Given the description of an element on the screen output the (x, y) to click on. 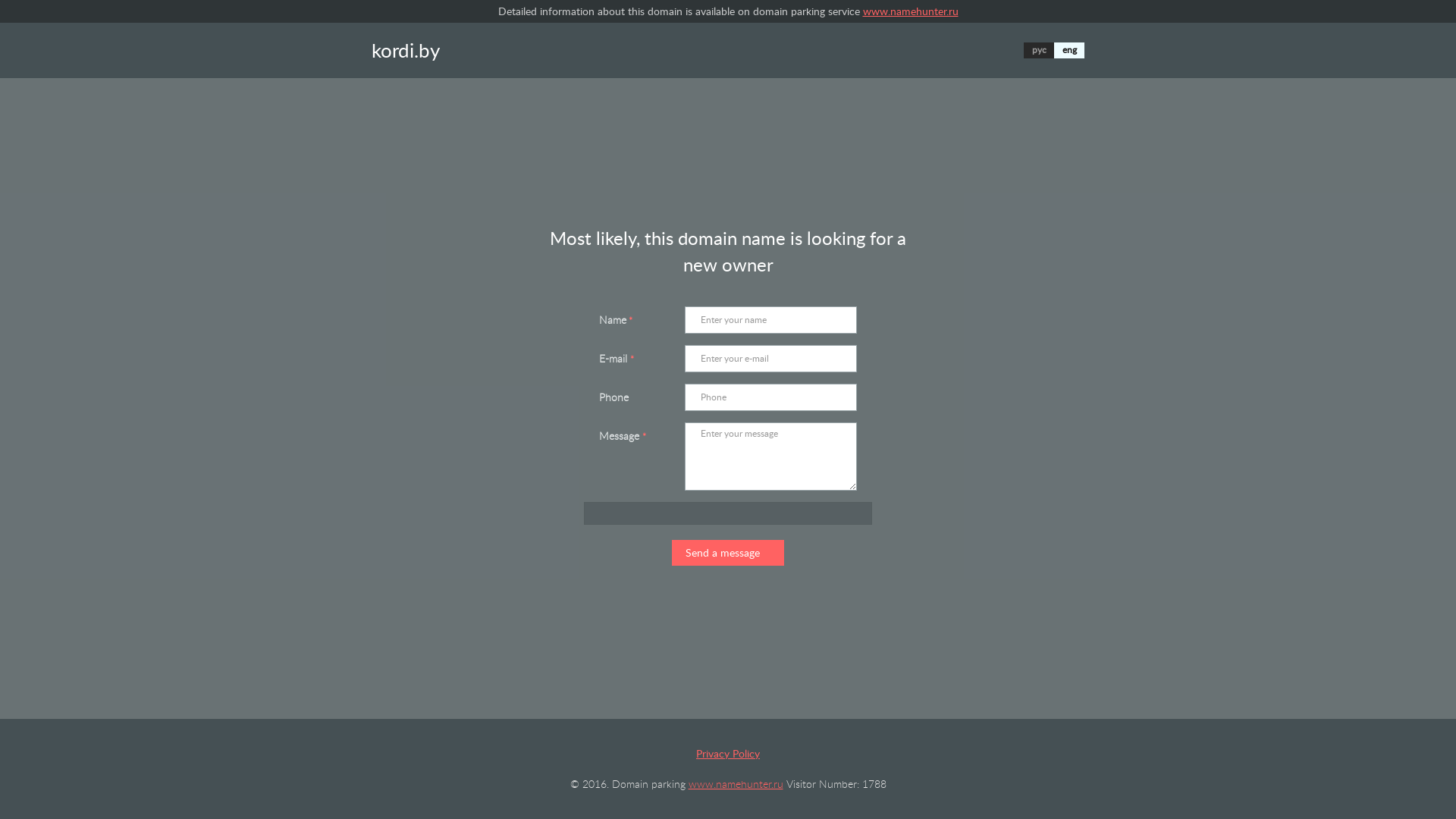
Send a message Element type: text (727, 552)
www.namehunter.ru Element type: text (734, 784)
www.namehunter.ru Element type: text (910, 11)
Privacy Policy Element type: text (727, 753)
kordi.by Element type: text (405, 50)
